Given the description of an element on the screen output the (x, y) to click on. 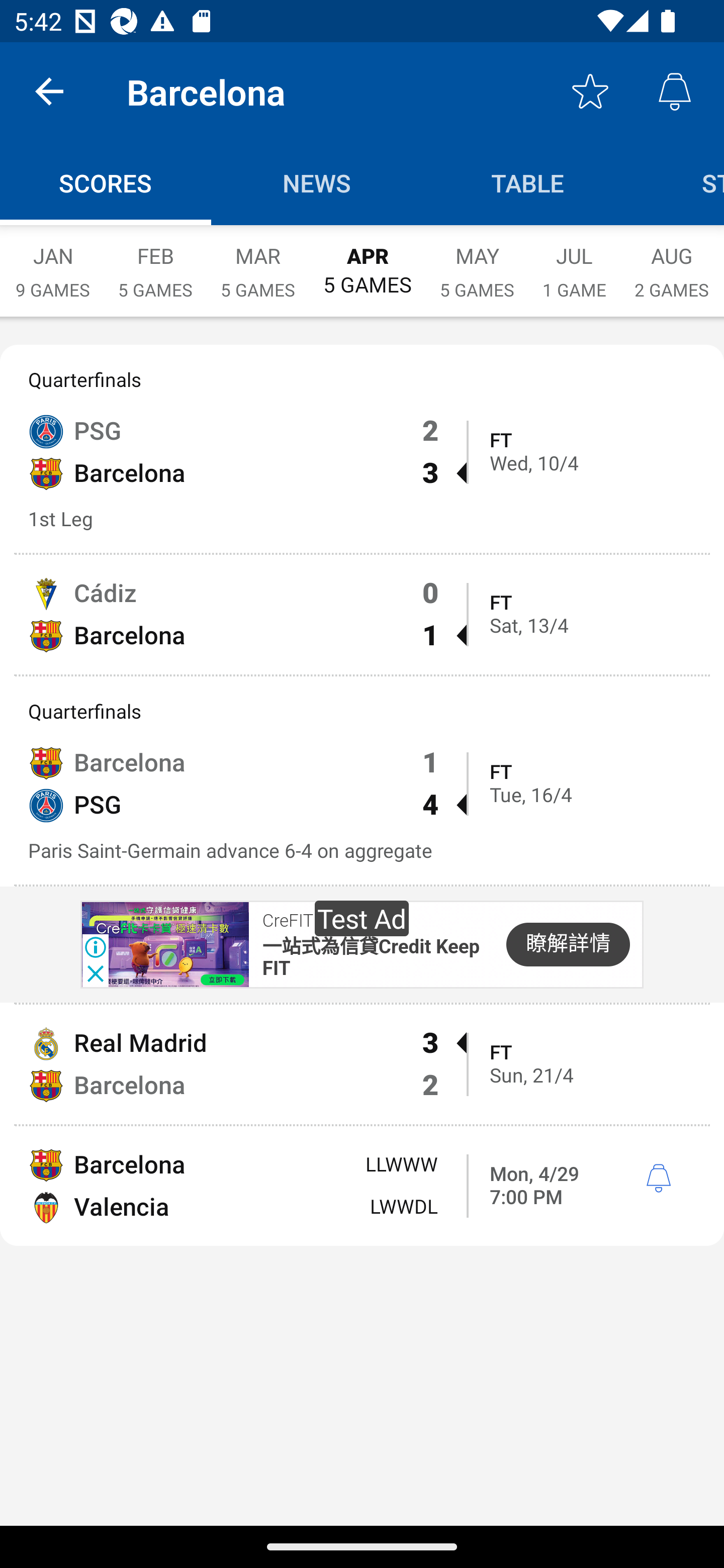
back.button (49, 90)
Favorite toggle (590, 90)
Alerts (674, 90)
News NEWS (316, 183)
Table TABLE (527, 183)
JAN 9 GAMES (52, 262)
FEB 5 GAMES (155, 262)
MAR 5 GAMES (257, 262)
APR 5 GAMES (367, 261)
MAY 5 GAMES (476, 262)
JUL 1 GAME (574, 262)
AUG 2 GAMES (671, 262)
Cádiz 0 Barcelona 1  FT Sat, 13/4 (362, 614)
details%3Fid%3Dcom.vhk (164, 944)
CreFIT 維信 (307, 920)
瞭解詳情 (567, 944)
一站式為信貸Credit Keep FIT 一站式為信貸Credit Keep FIT (371, 958)
Real Madrid 3  Barcelona 2 FT Sun, 21/4 (362, 1064)
Barcelona LLWWW Valencia LWWDL Mon, 4/29 7:00 PM í (362, 1185)
í (658, 1178)
